Given the description of an element on the screen output the (x, y) to click on. 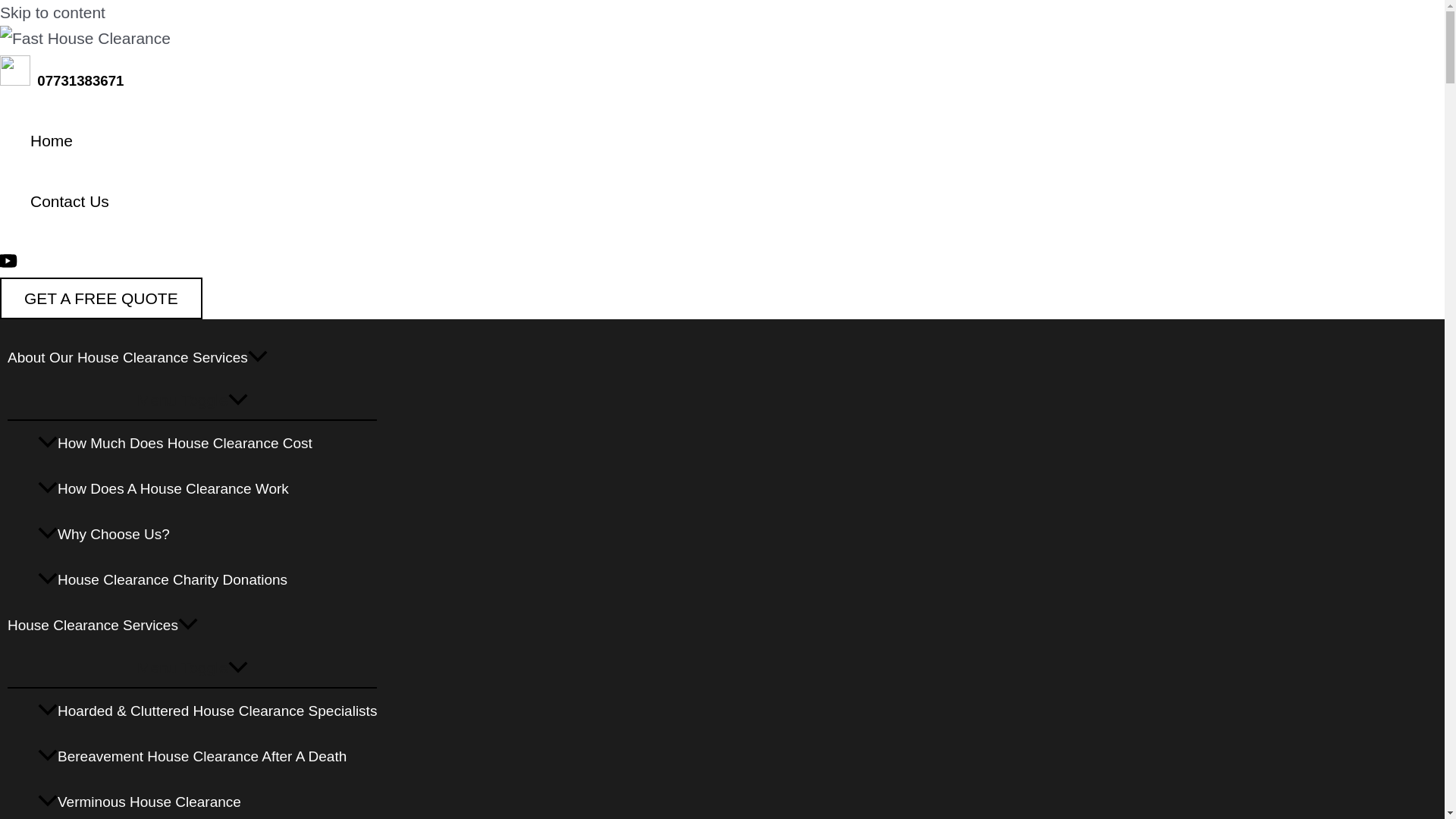
House Clearance Charity Donations (207, 579)
Skip to content (52, 12)
How Does A House Clearance Work (207, 488)
Menu Toggle (192, 667)
GET A FREE QUOTE (101, 298)
Why Choose Us? (207, 534)
Bereavement House Clearance After A Death (207, 756)
How Much Does House Clearance Cost (207, 443)
About Our House Clearance Services (192, 357)
Menu Toggle (192, 399)
